Given the description of an element on the screen output the (x, y) to click on. 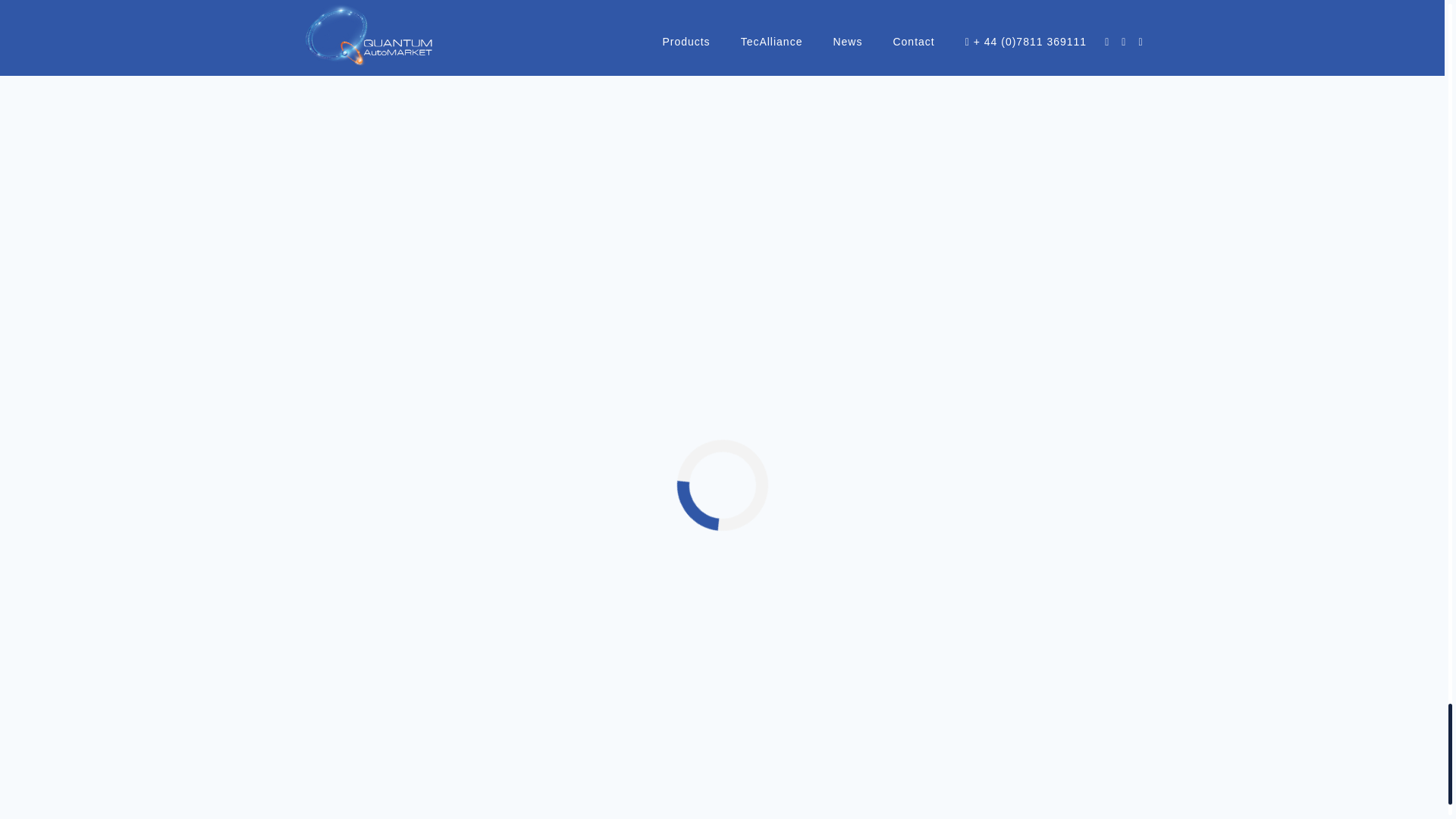
Privacy policy (770, 732)
General conditions (783, 684)
Mandatory information (793, 707)
About us (757, 635)
Contact (754, 659)
